Given the description of an element on the screen output the (x, y) to click on. 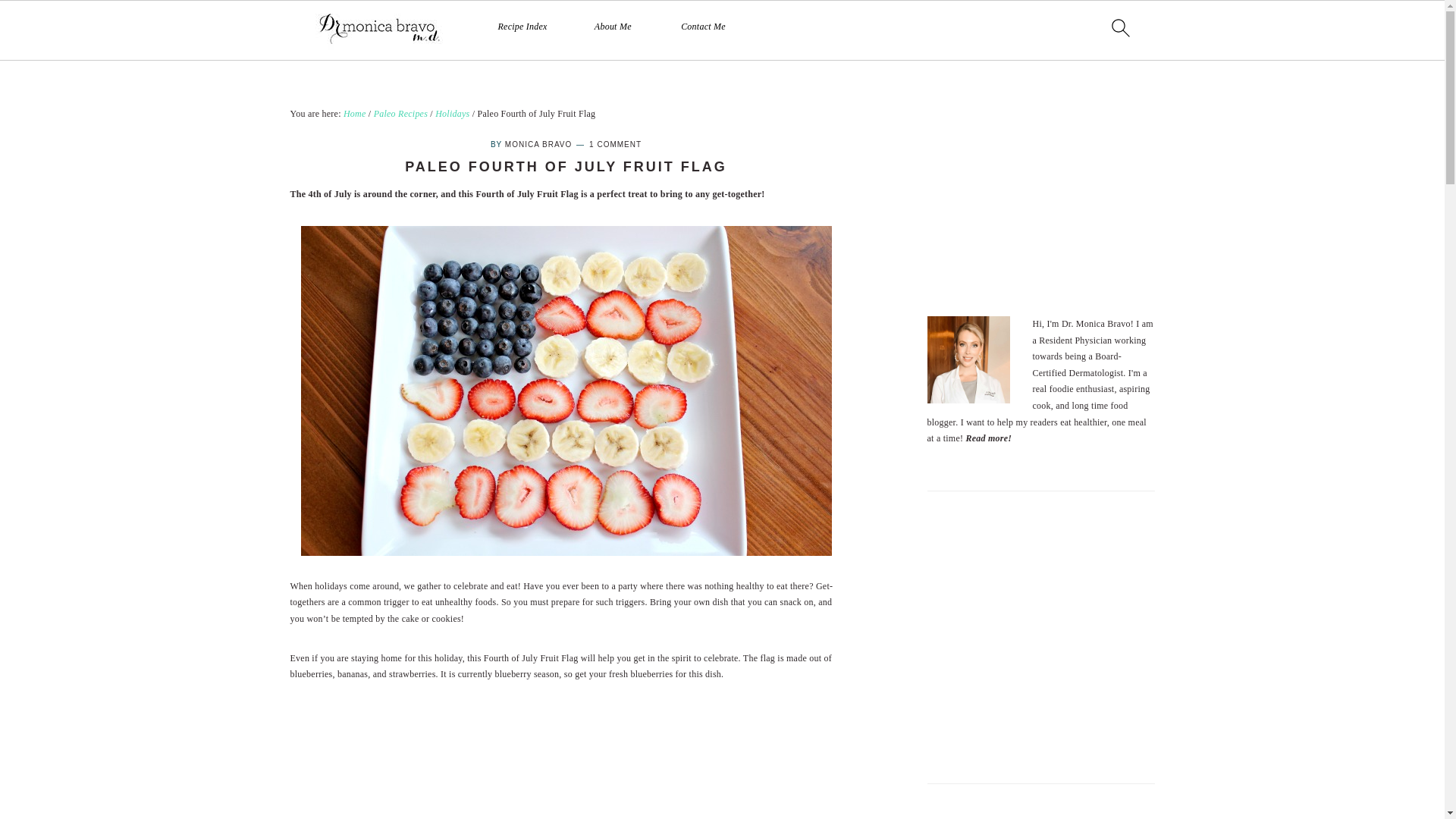
search icon (1119, 27)
Paleo Recipes (401, 113)
Holidays (451, 113)
MONICA BRAVO (538, 144)
Home (354, 113)
1 COMMENT (615, 144)
Recipe Index (522, 27)
About Me (612, 27)
Contact Me (703, 27)
